Given the description of an element on the screen output the (x, y) to click on. 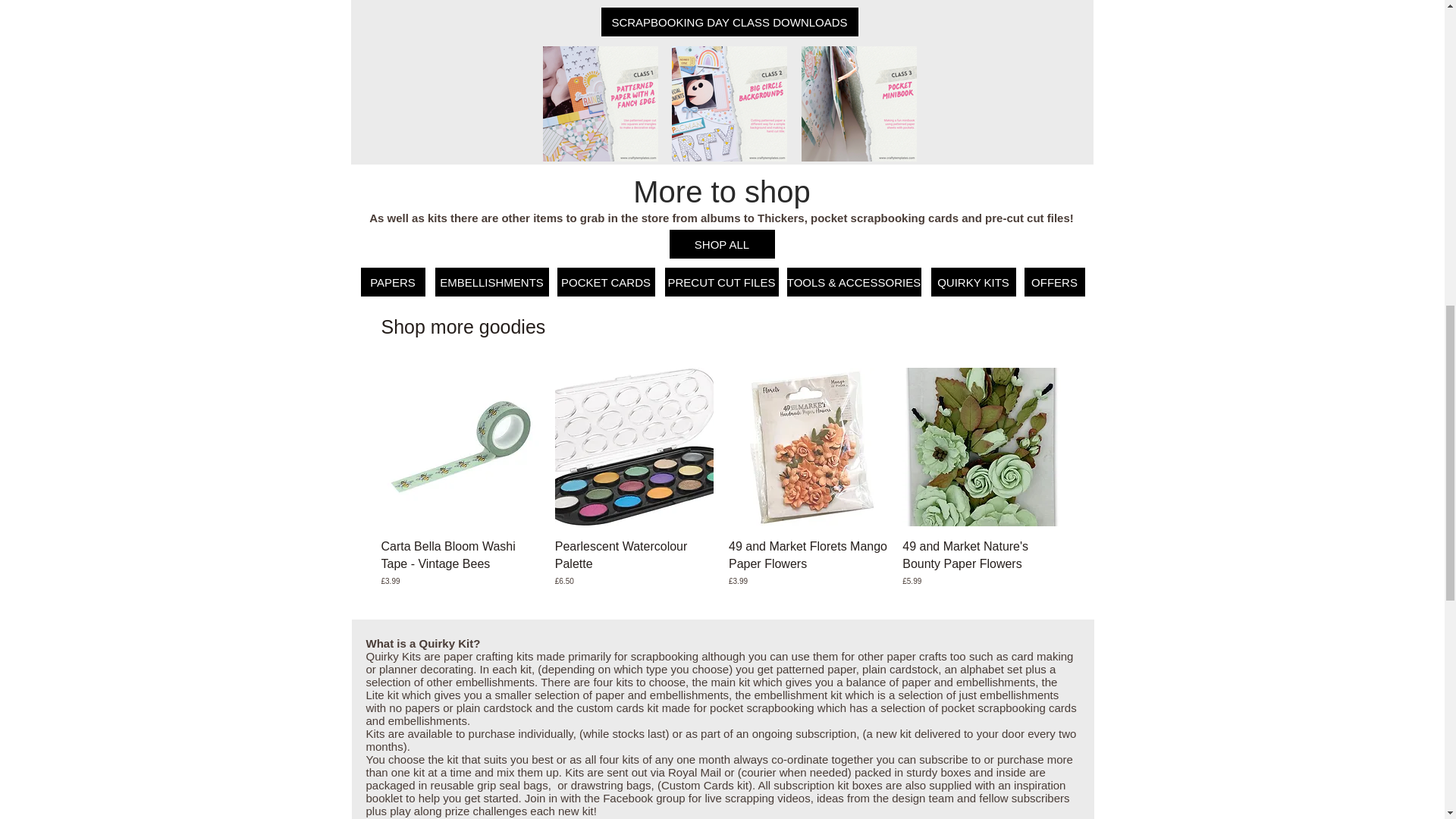
OFFERS (1053, 281)
SHOP ALL (721, 244)
POCKET CARDS (604, 281)
PRECUT CUT FILES (720, 281)
QUIRKY KITS (973, 281)
PAPERS (393, 281)
SCRAPBOOKING DAY CLASS DOWNLOADS (728, 21)
EMBELLISHMENTS (491, 281)
